Given the description of an element on the screen output the (x, y) to click on. 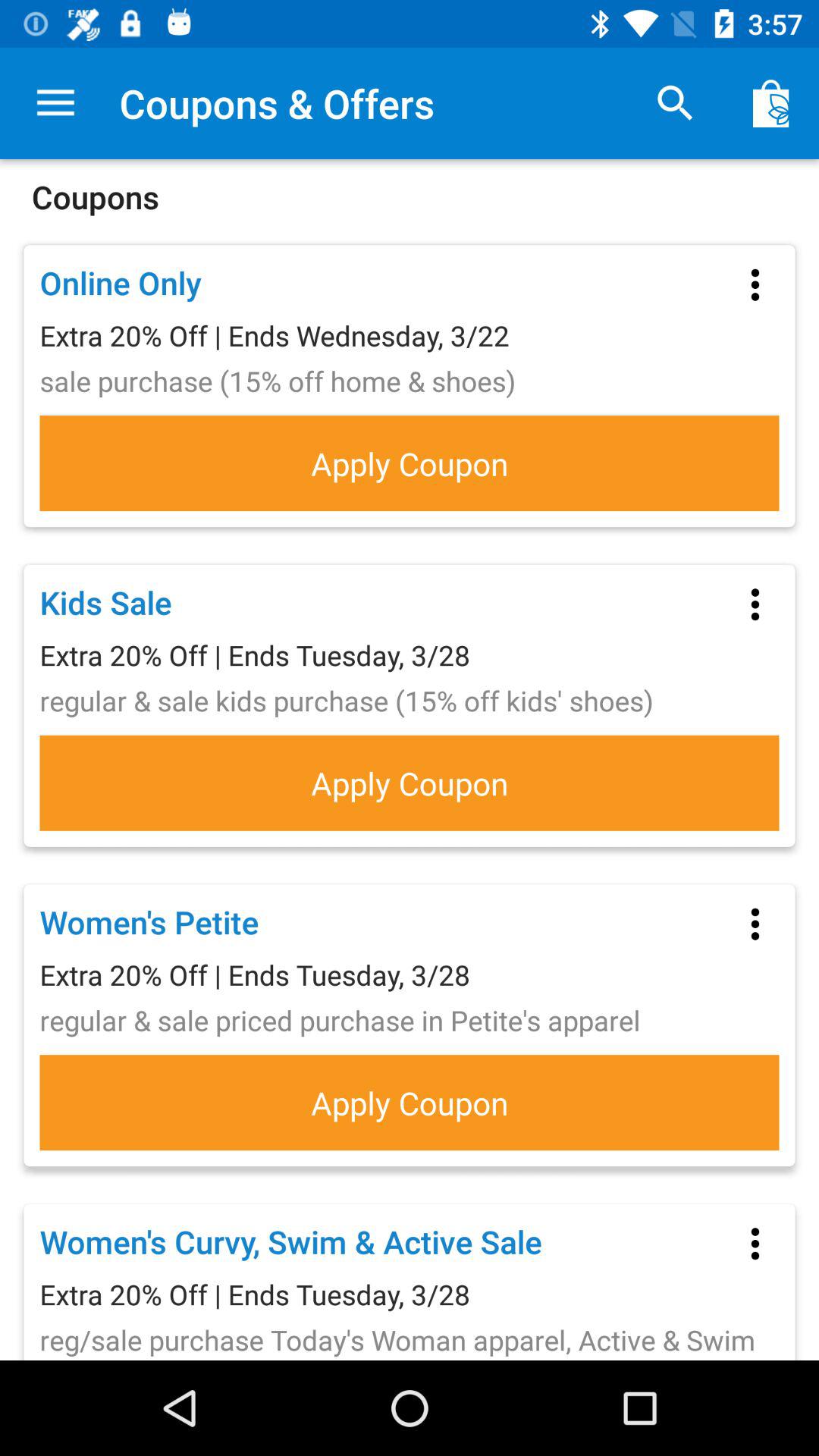
select the app next to coupons & offers icon (55, 103)
